Given the description of an element on the screen output the (x, y) to click on. 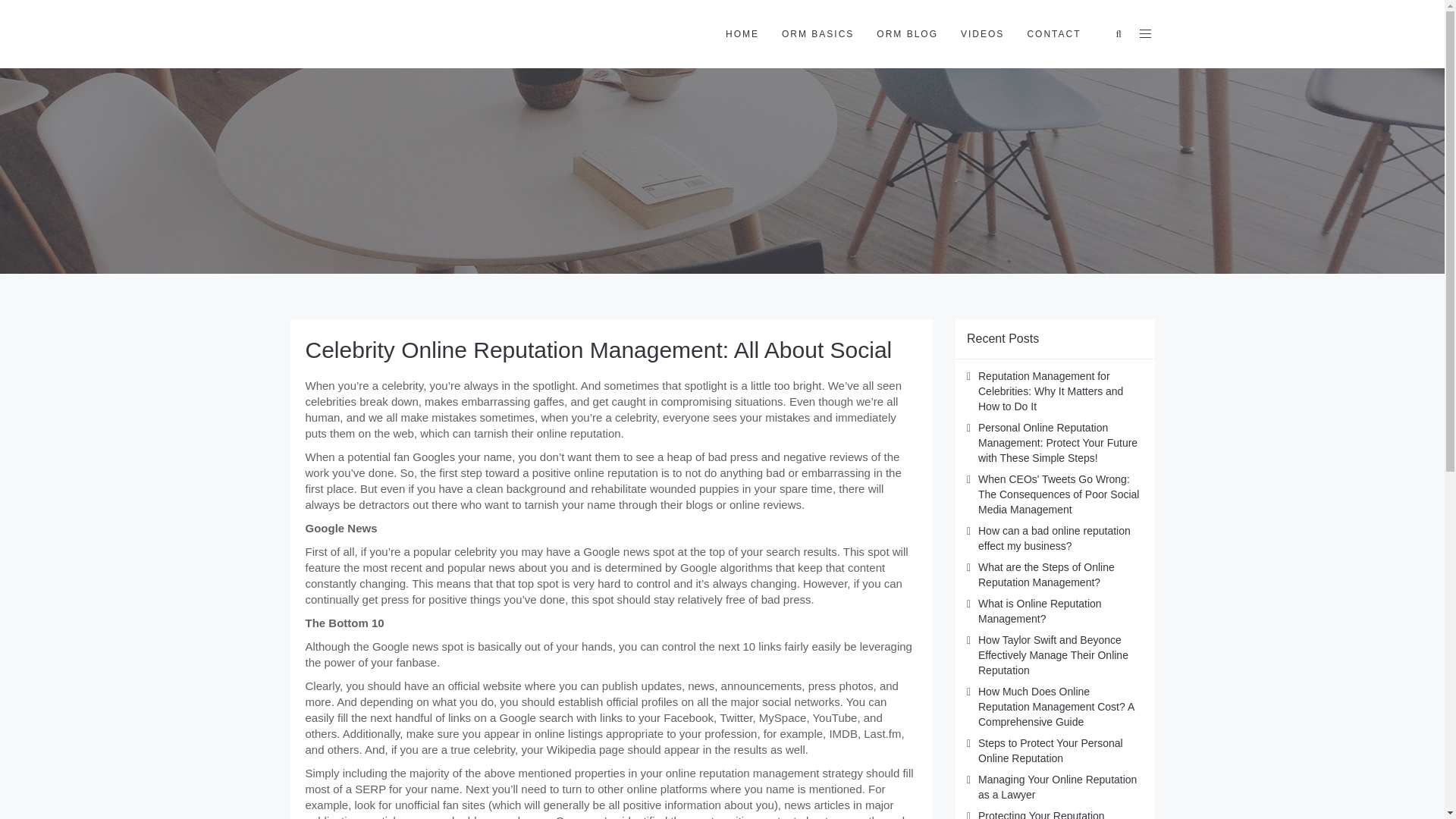
How can a bad online reputation effect my business? (1054, 538)
Managing Your Online Reputation as a Lawyer (1057, 786)
VIDEOS (981, 33)
ORM BASICS (817, 33)
Celebrity Online Reputation Management: All About Social (597, 349)
CONTACT (1053, 33)
What is Online Reputation Management? (1040, 610)
What are the Steps of Online Reputation Management? (1046, 574)
Protecting Your Reputation Online: Strategies for Doctors (1048, 814)
ORM BLOG (906, 33)
Steps to Protect Your Personal Online Reputation (1050, 750)
